Given the description of an element on the screen output the (x, y) to click on. 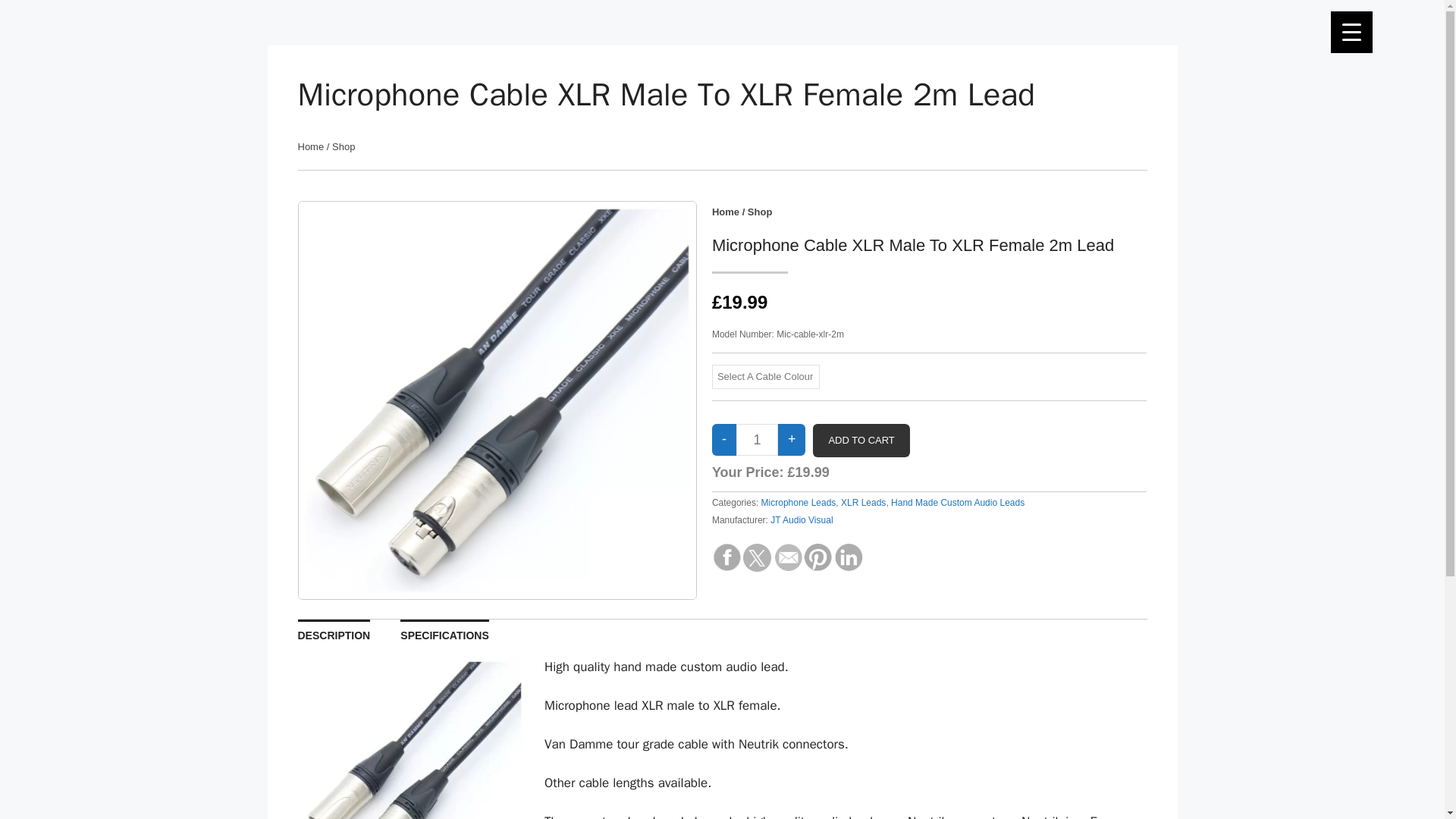
ADD TO CART (860, 440)
1 (756, 439)
